Given the description of an element on the screen output the (x, y) to click on. 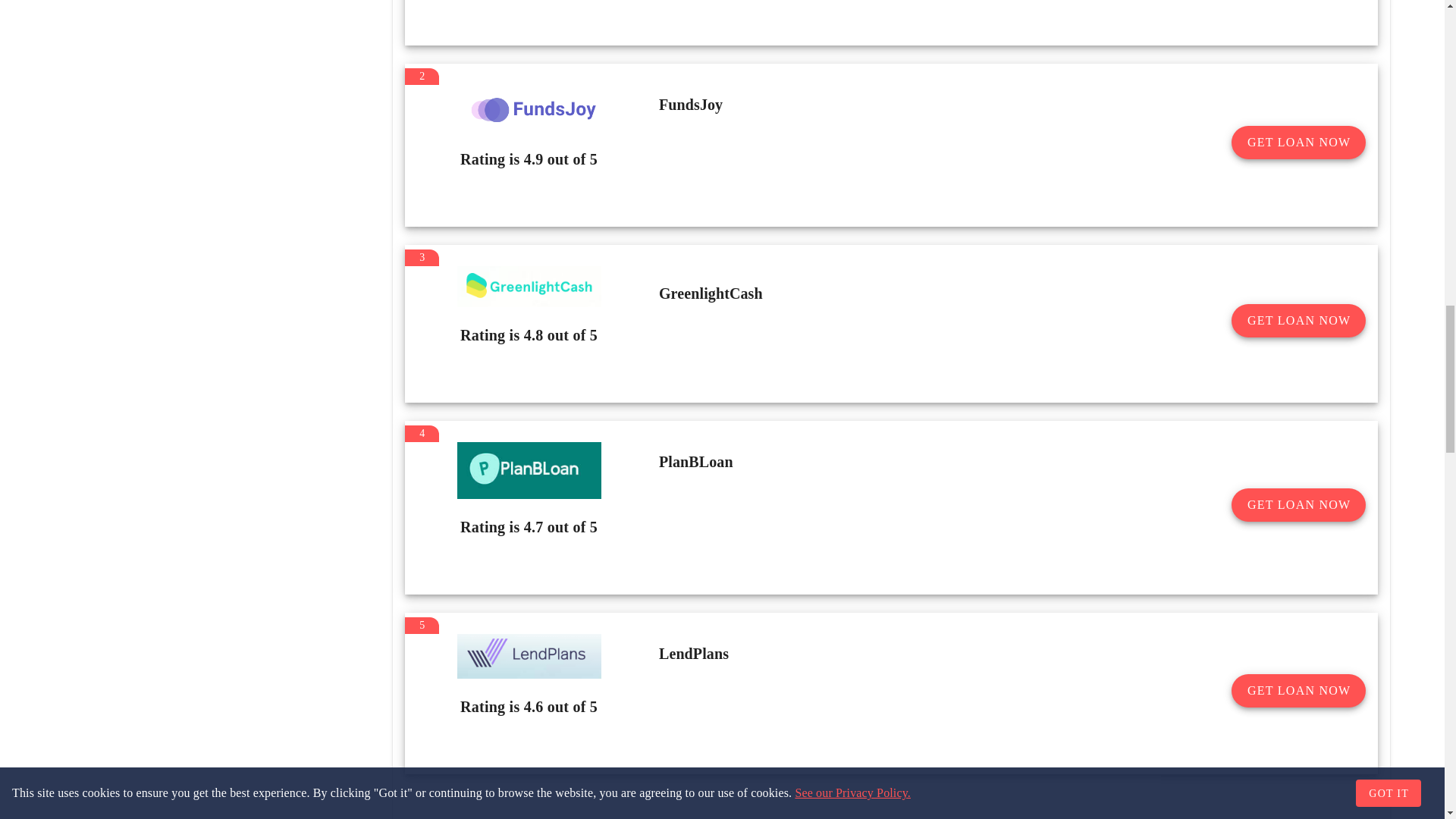
GET LOAN NOW (1298, 142)
